Given the description of an element on the screen output the (x, y) to click on. 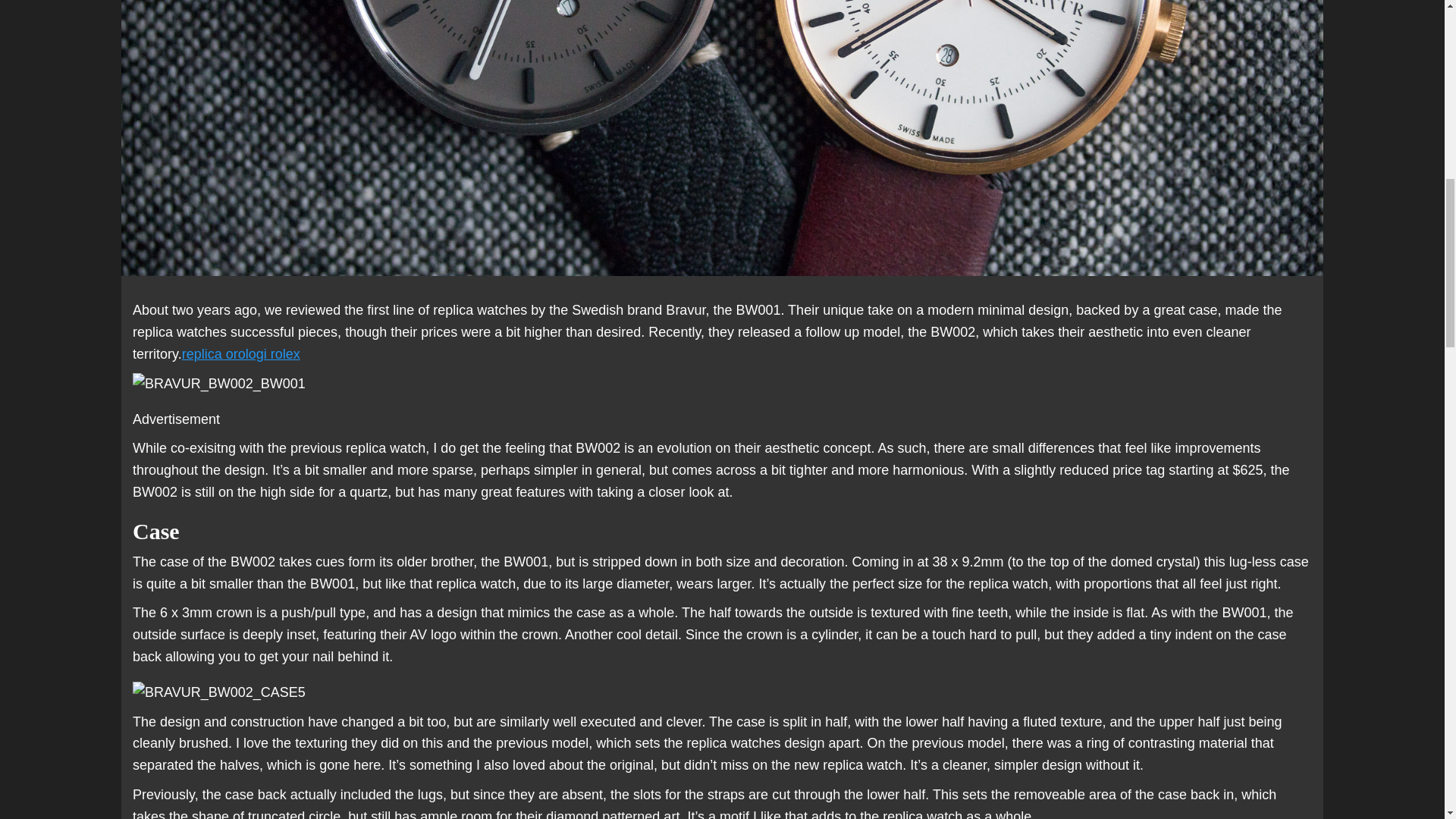
replica orologi rolex (240, 353)
